Given the description of an element on the screen output the (x, y) to click on. 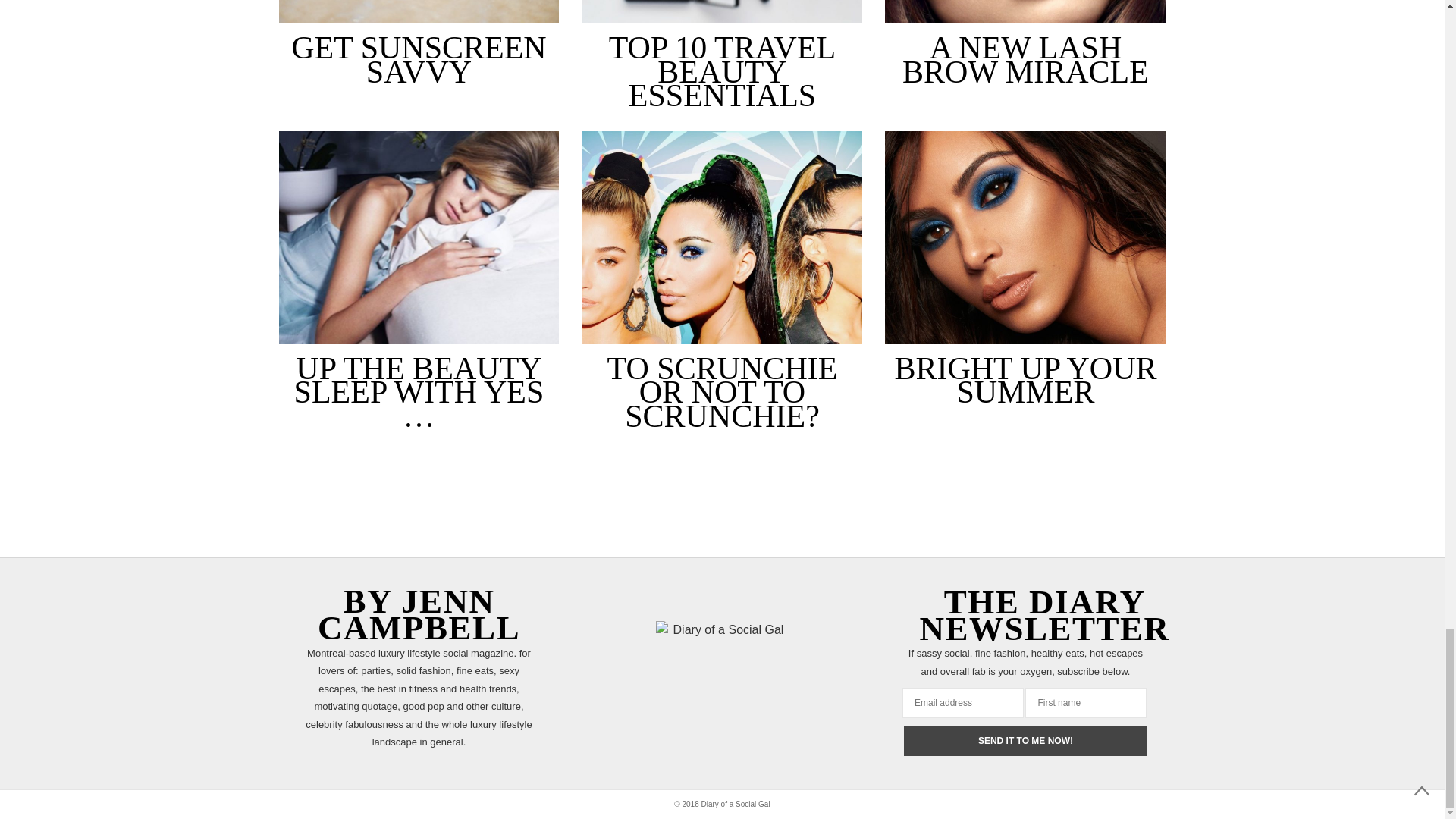
Send it to me now! (1025, 740)
A NEW LASH BROW MIRACLE (1025, 59)
GET SUNSCREEN SAVVY (419, 11)
TOP 10 TRAVEL BEAUTY ESSENTIALS (720, 11)
GET SUNSCREEN SAVVY (418, 59)
A NEW LASH BROW MIRACLE (1025, 11)
TOP 10 TRAVEL BEAUTY ESSENTIALS (721, 71)
